Given the description of an element on the screen output the (x, y) to click on. 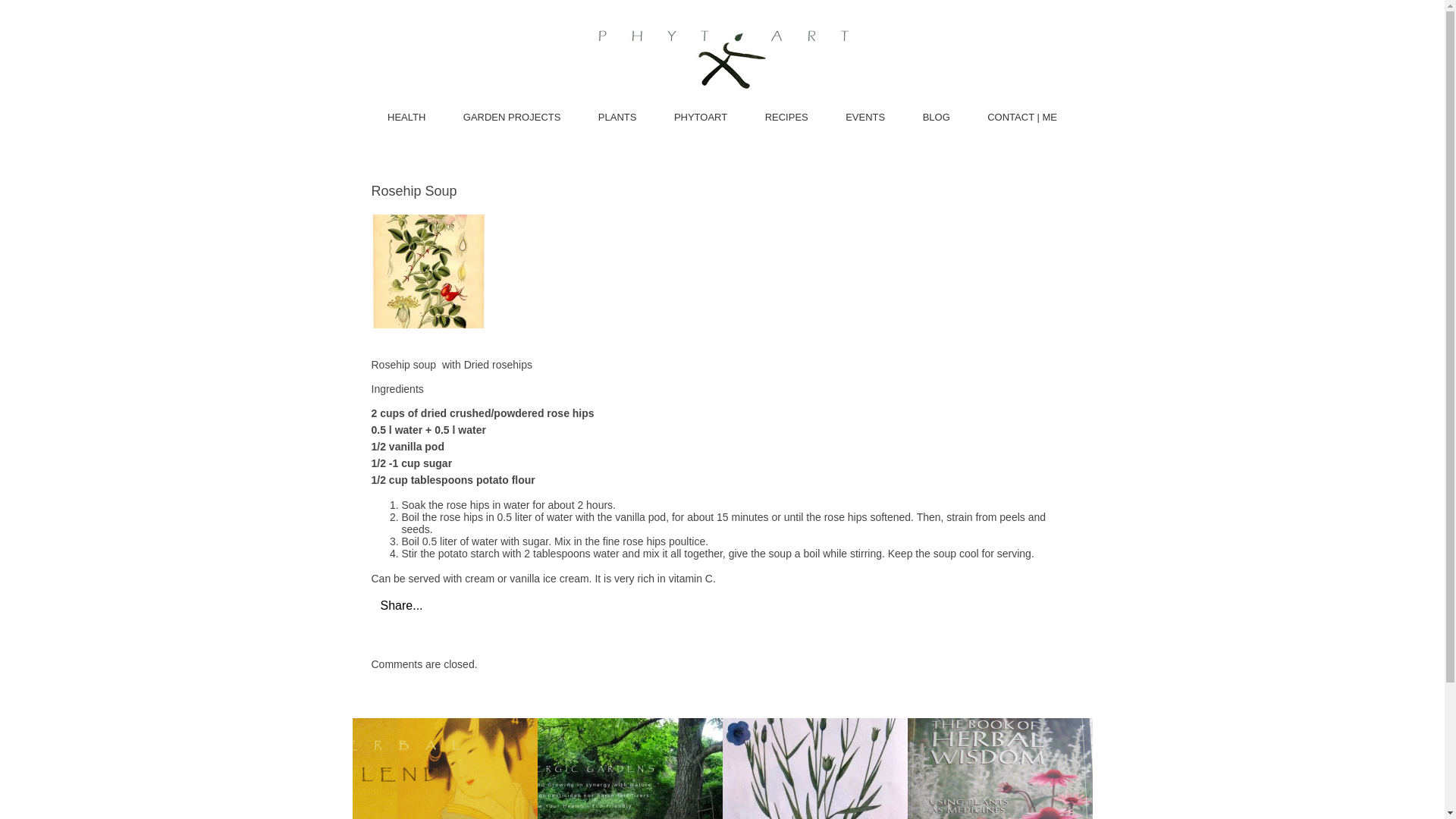
HEALTH (405, 116)
PHYTOART (700, 116)
Share... (401, 605)
PLANTS (616, 116)
BLOG (935, 116)
EVENTS (865, 116)
RECIPES (786, 116)
GARDEN PROJECTS (511, 116)
